Given the description of an element on the screen output the (x, y) to click on. 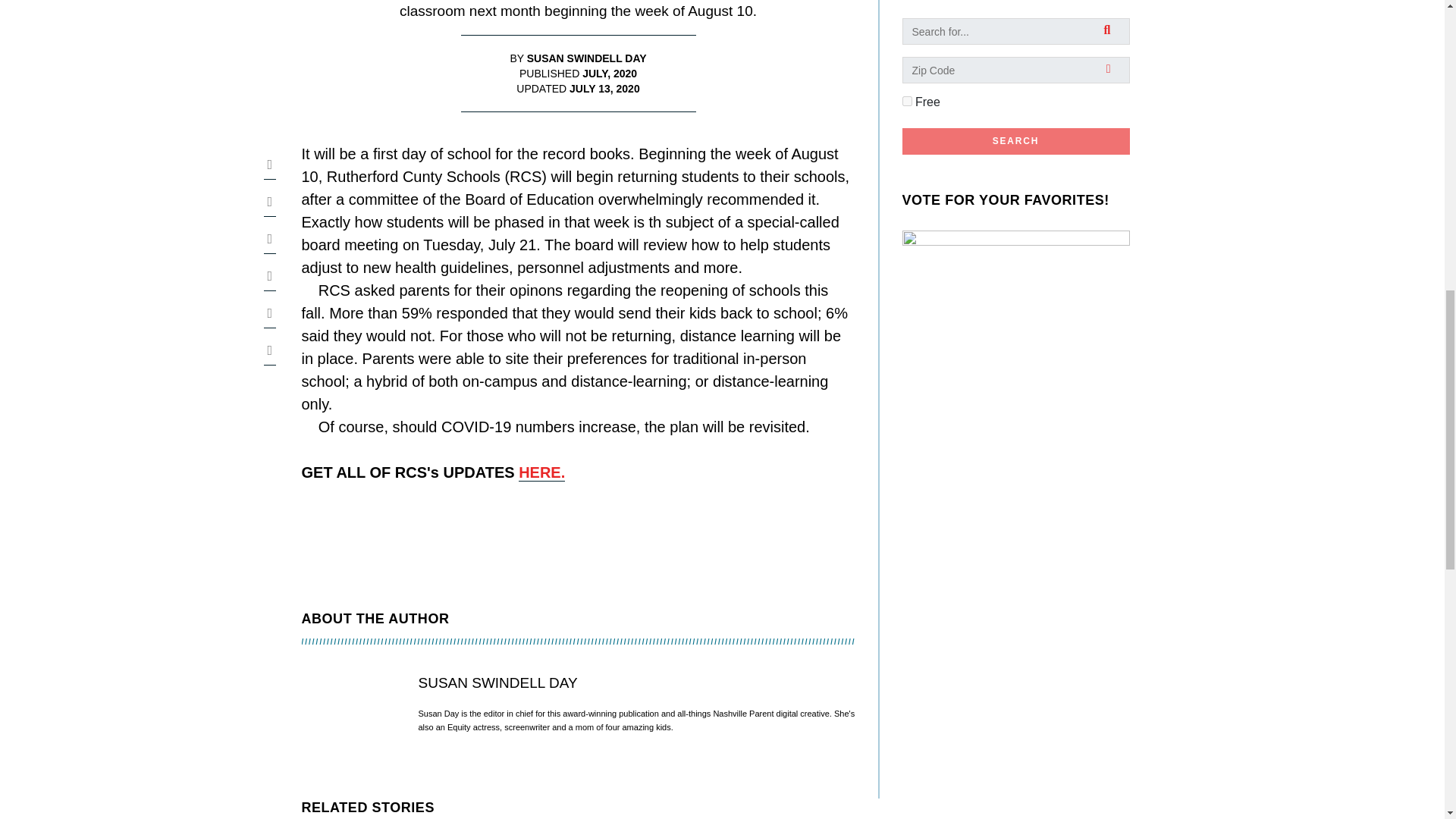
Free (907, 101)
Search (1015, 140)
